Given the description of an element on the screen output the (x, y) to click on. 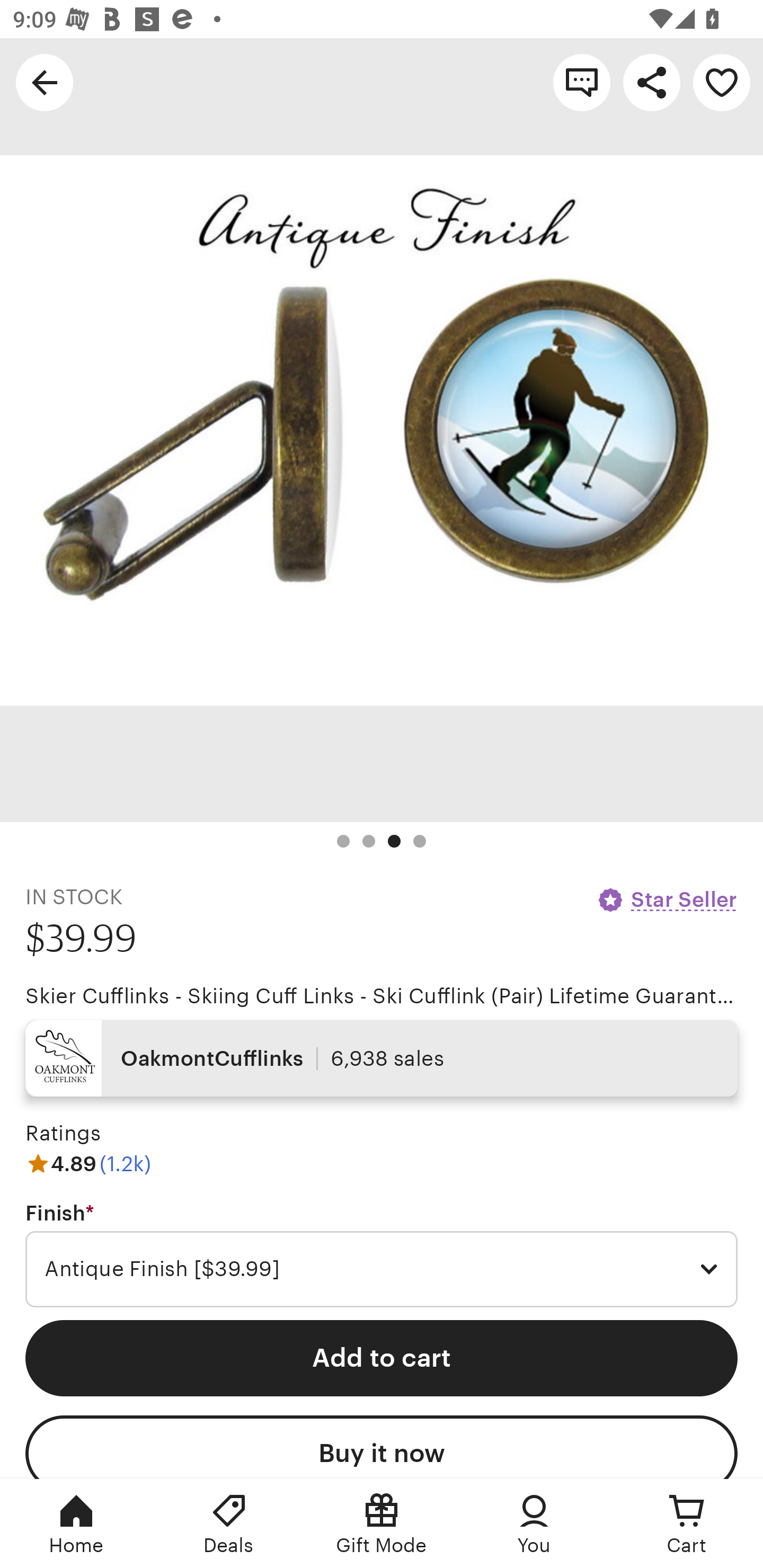
Navigate up (44, 81)
Contact shop (581, 81)
Share (651, 81)
Star Seller (666, 899)
OakmontCufflinks 6,938 sales (381, 1058)
Ratings (62, 1133)
4.89 (1.2k) (88, 1163)
Finish * Required Antique Finish [$39.99] (381, 1254)
Antique Finish [$39.99] (381, 1268)
Add to cart (381, 1358)
Buy it now (381, 1446)
Deals (228, 1523)
Gift Mode (381, 1523)
You (533, 1523)
Cart (686, 1523)
